Given the description of an element on the screen output the (x, y) to click on. 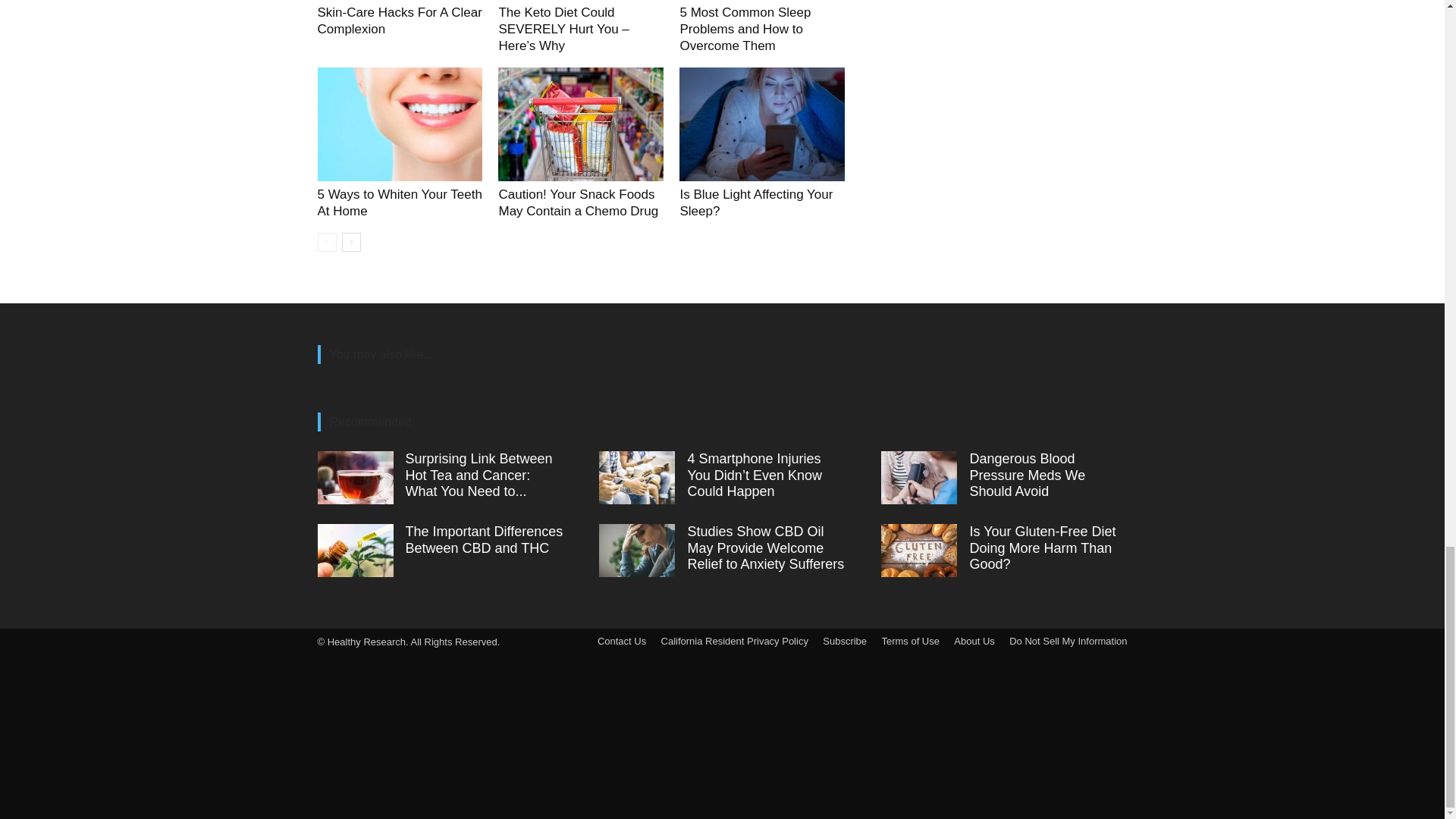
Is Blue Light Affecting Your Sleep? (755, 202)
5 Ways to Whiten Your Teeth At Home (399, 202)
5 Most Common Sleep Problems and How to Overcome Them (744, 28)
Caution! Your Snack Foods May Contain a Chemo Drug (577, 202)
5 Most Common Sleep Problems and How to Overcome Them (744, 28)
Skin-Care Hacks For A Clear Complexion (399, 20)
Skin-Care Hacks For A Clear Complexion (399, 20)
